Given the description of an element on the screen output the (x, y) to click on. 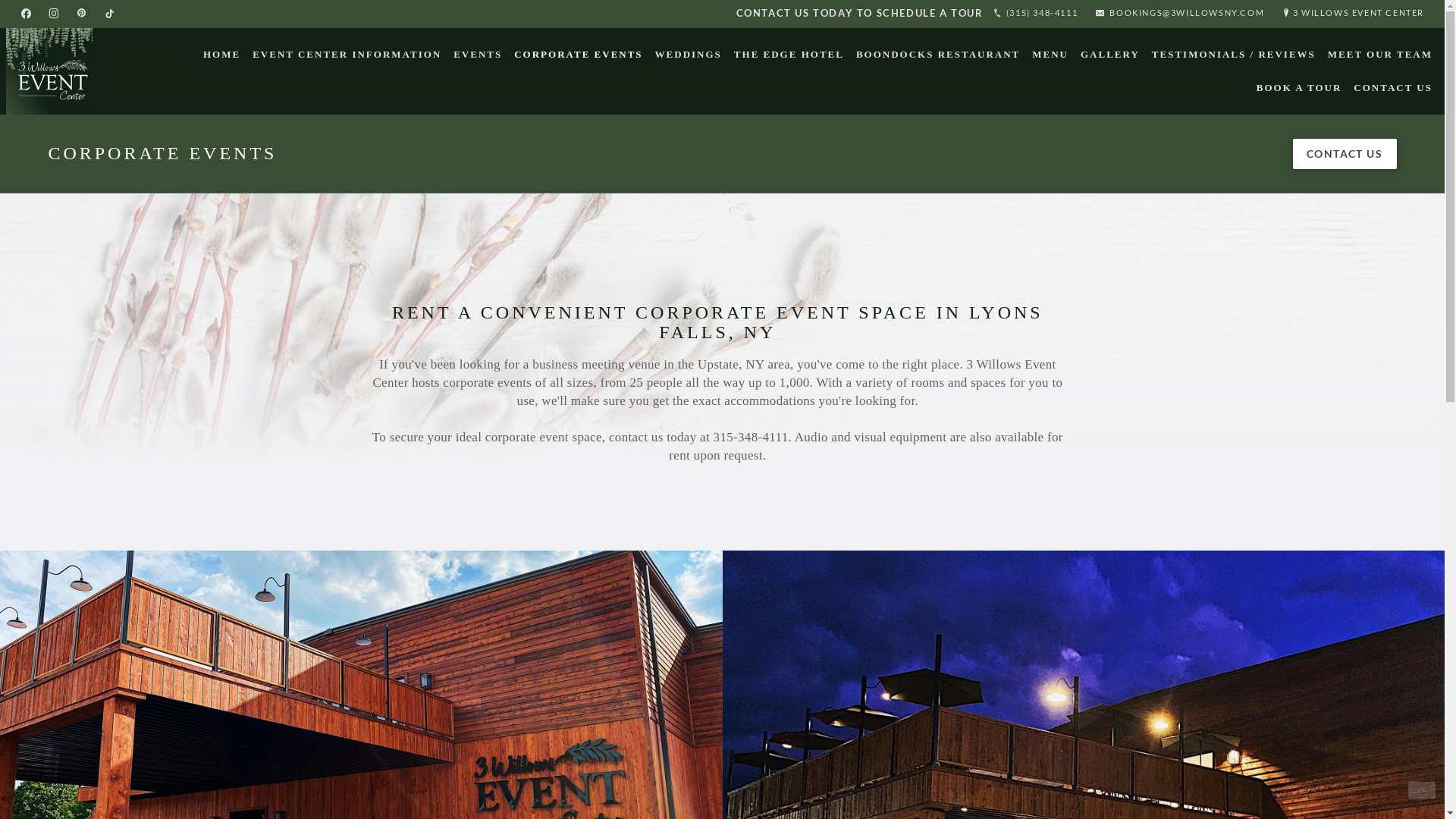
BOONDOCKS RESTAURANT Element type: text (938, 54)
(315) 348-4111 Element type: text (1034, 13)
THE EDGE HOTEL Element type: text (789, 54)
WEDDINGS Element type: text (688, 54)
EVENTS Element type: text (477, 54)
CONTACT US Element type: text (1392, 87)
GALLERY Element type: text (1109, 54)
TESTIMONIALS / REVIEWS Element type: text (1233, 54)
BOOK A TOUR Element type: text (1299, 87)
MEET OUR TEAM Element type: text (1379, 54)
BOOKINGS@3WILLOWSNY.COM Element type: text (1178, 13)
3 WILLOWS EVENT CENTER Element type: text (1352, 13)
CORPORATE EVENTS Element type: text (578, 54)
EVENT CENTER INFORMATION Element type: text (346, 54)
3 Willows Event Center Element type: hover (49, 71)
Instagram Element type: hover (53, 13)
Facebook Element type: hover (26, 13)
HOME Element type: text (221, 54)
Pinterest Element type: hover (81, 13)
TikTok Element type: hover (109, 13)
CORPORATE EVENTS
CONTACT US Element type: text (722, 153)
MENU Element type: text (1050, 54)
CONTACT US TODAY TO SCHEDULE A TOUR Element type: text (859, 12)
